Given the description of an element on the screen output the (x, y) to click on. 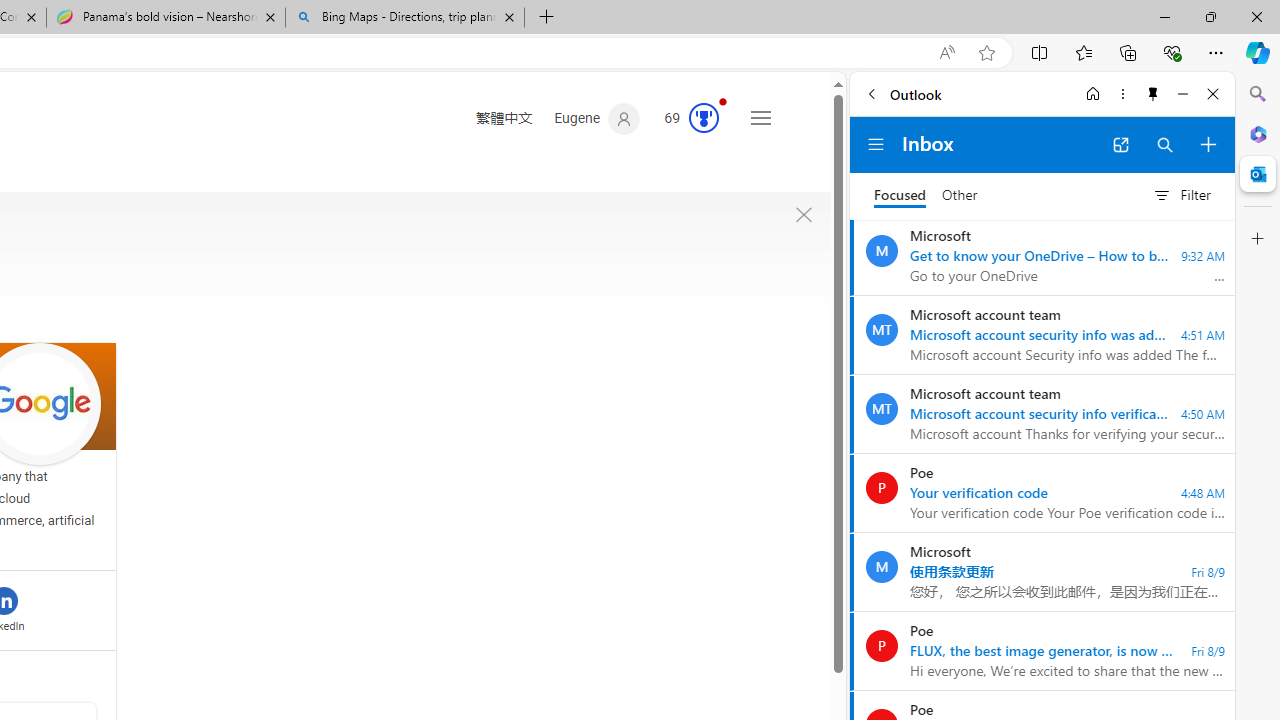
Open in new tab (1120, 144)
AutomationID: rh_meter (703, 117)
Class: rms_img (803, 215)
Microsoft Rewards 69 (685, 119)
Split screen (1039, 52)
Close (1213, 93)
Filter (1181, 195)
Favorites (1083, 52)
Minimize (1182, 93)
Folder navigation (876, 144)
Read aloud this page (Ctrl+Shift+U) (946, 53)
Home (1093, 93)
